Given the description of an element on the screen output the (x, y) to click on. 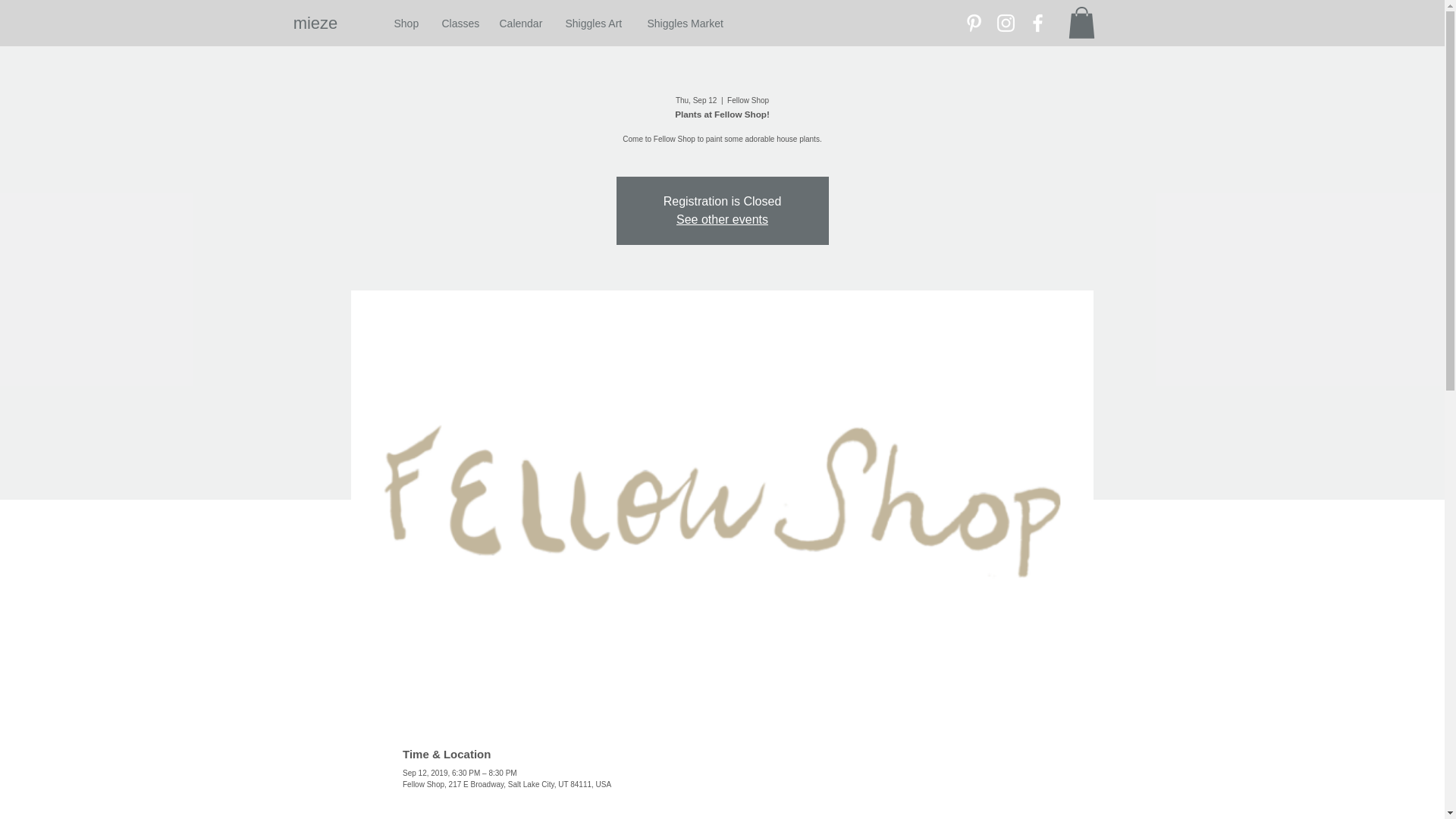
Shiggles Art (593, 24)
Classes (458, 24)
Shiggles Market (684, 24)
Shop (405, 24)
mieze (314, 23)
Calendar (520, 24)
See other events (722, 219)
